Given the description of an element on the screen output the (x, y) to click on. 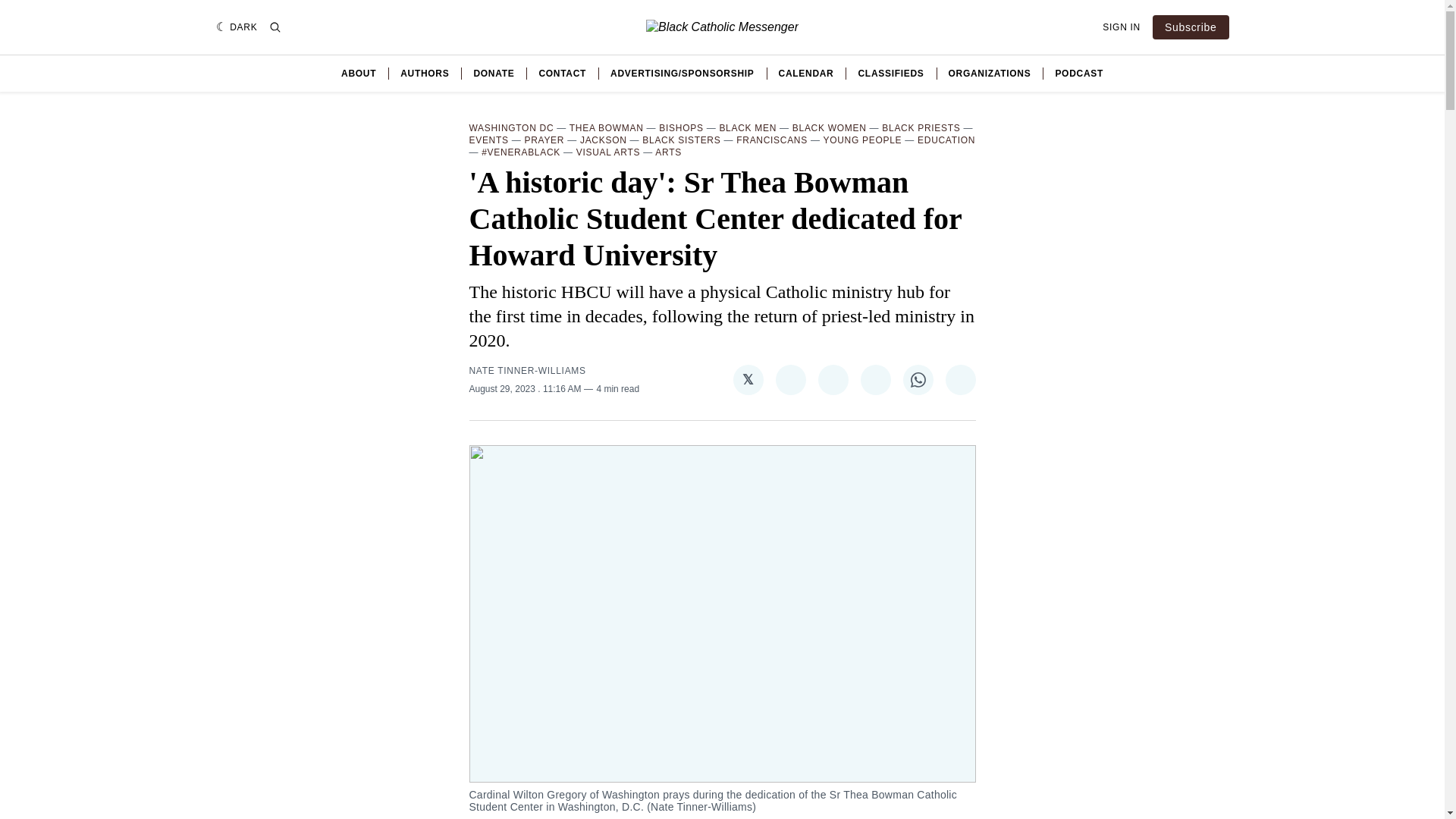
EVENTS (488, 140)
Share on WhatsApp (917, 379)
Share on LinkedIn (874, 379)
BLACK SISTERS (681, 140)
PRAYER (544, 140)
CONTACT (562, 73)
YOUNG PEOPLE (863, 140)
Subscribe (1190, 27)
ABOUT (357, 73)
BLACK MEN (747, 127)
